Given the description of an element on the screen output the (x, y) to click on. 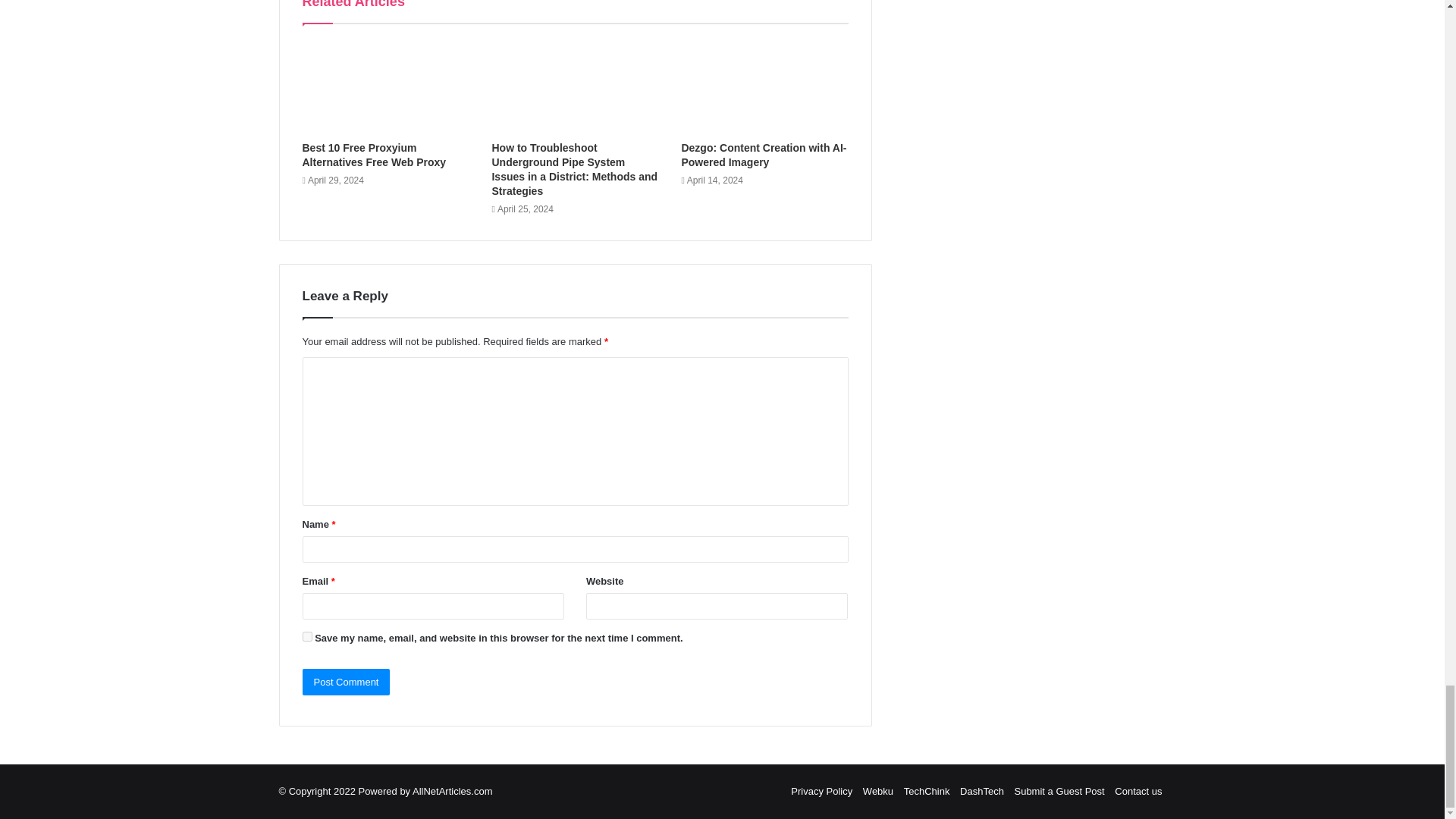
Post Comment (345, 682)
yes (306, 636)
